Given the description of an element on the screen output the (x, y) to click on. 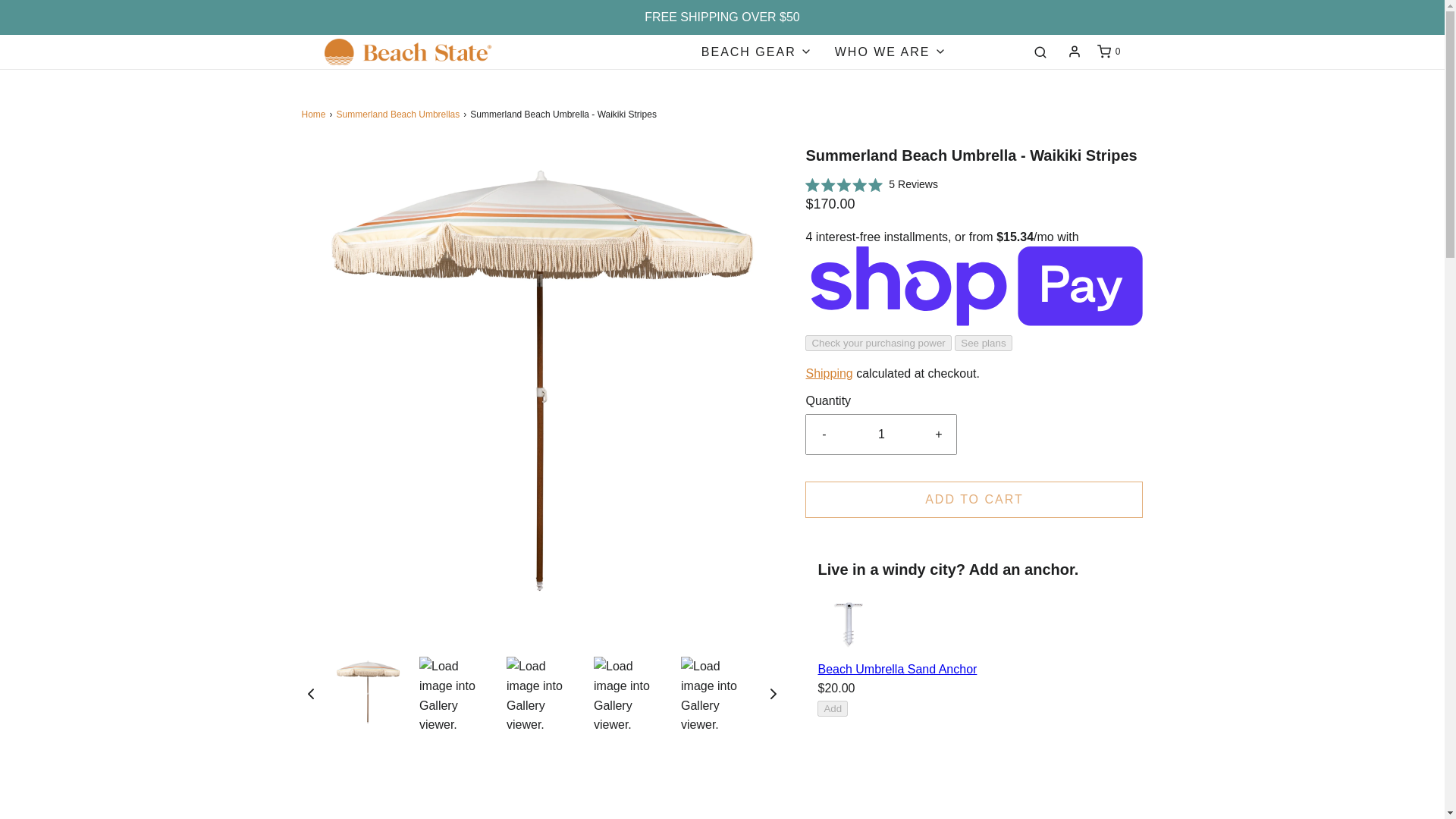
Back to the frontpage (315, 114)
0 (1107, 51)
Cart (1107, 51)
Search (1040, 51)
Log in (1074, 51)
BEACH GEAR (756, 52)
1 (881, 434)
WHO WE ARE (890, 52)
